Given the description of an element on the screen output the (x, y) to click on. 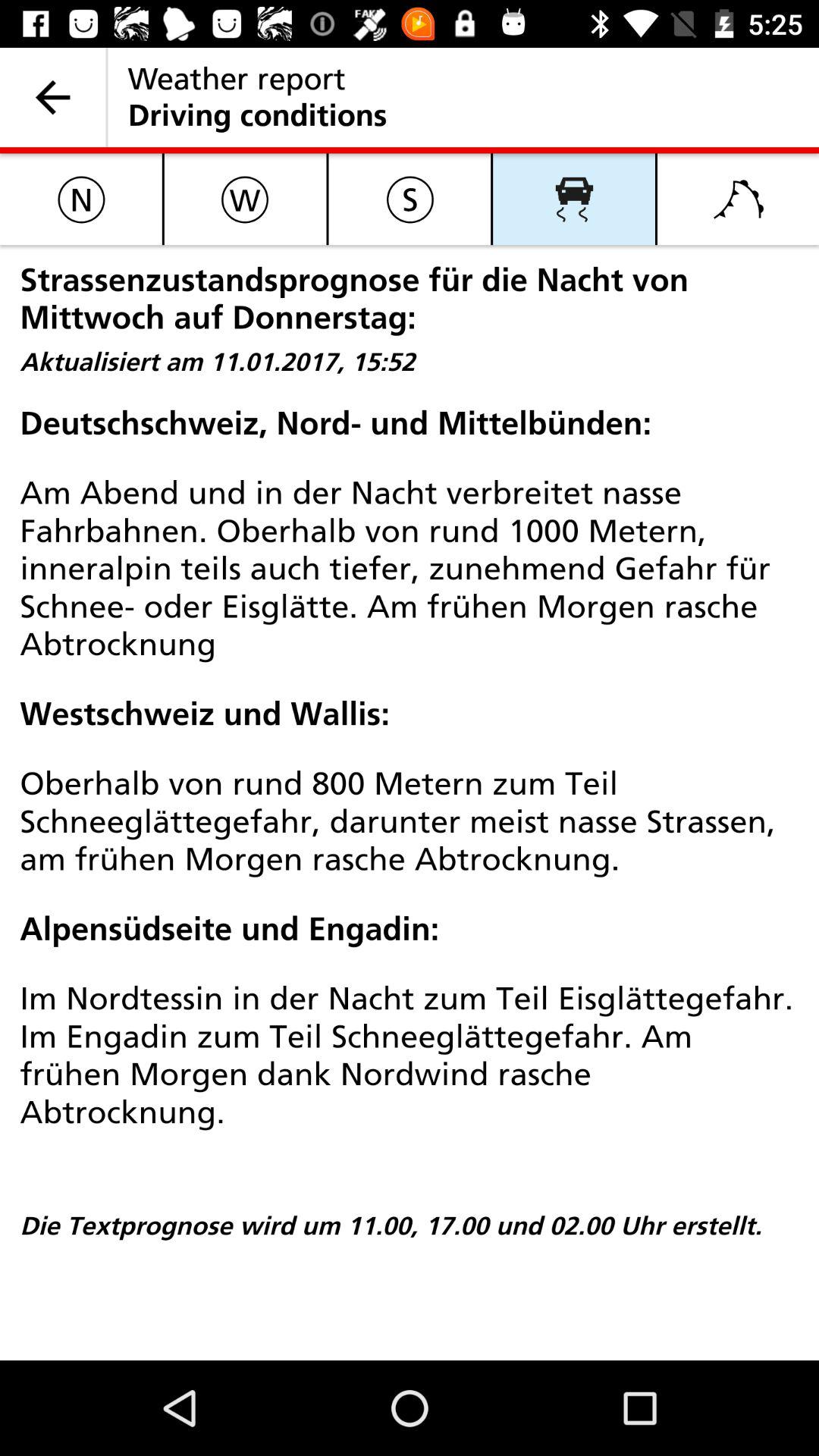
turn on the icon next to weather report (52, 97)
